Given the description of an element on the screen output the (x, y) to click on. 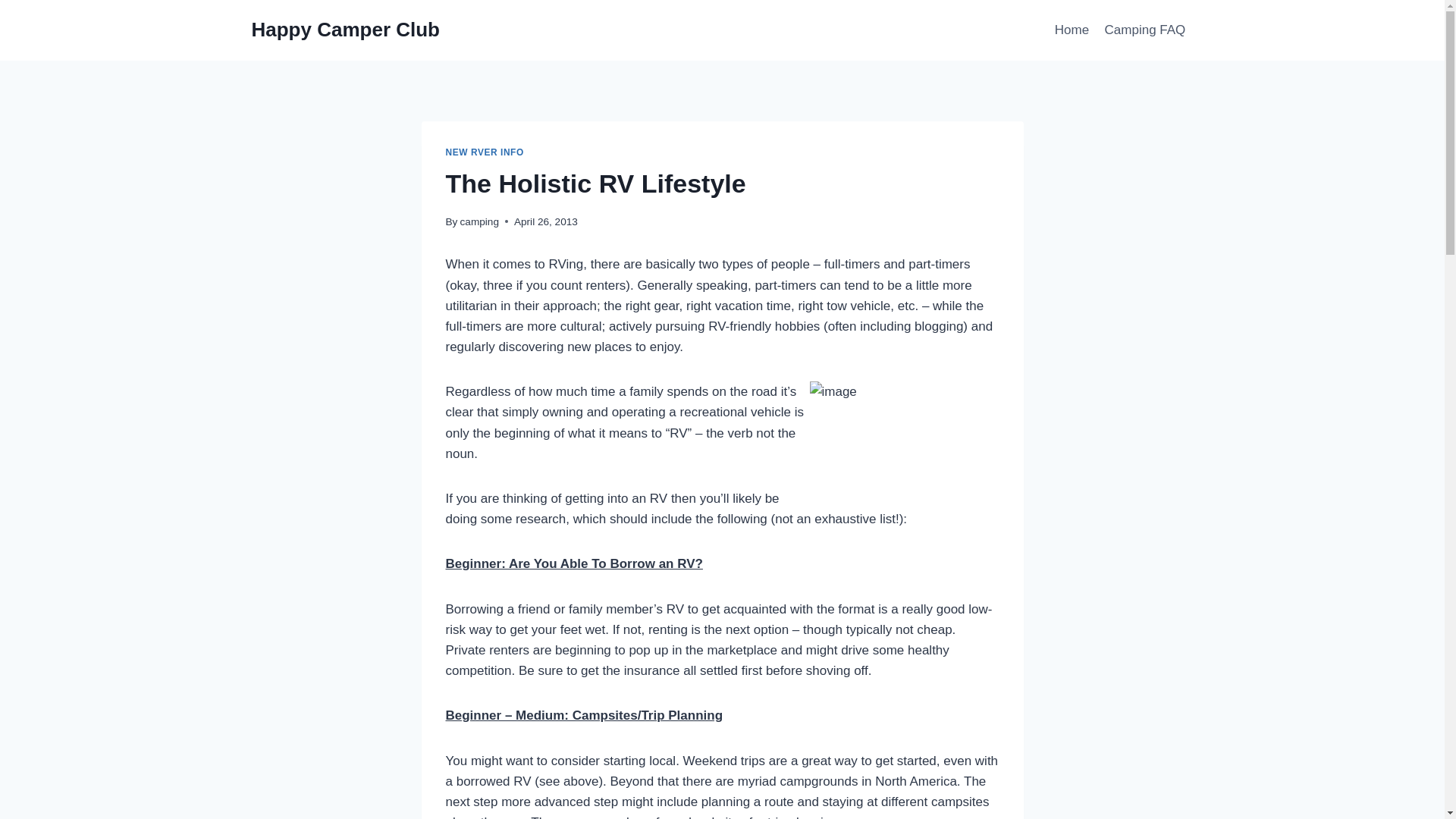
camping (479, 221)
Home (1071, 30)
Camping FAQ (1144, 30)
NEW RVER INFO (484, 152)
Happy Camper Club (346, 29)
